Given the description of an element on the screen output the (x, y) to click on. 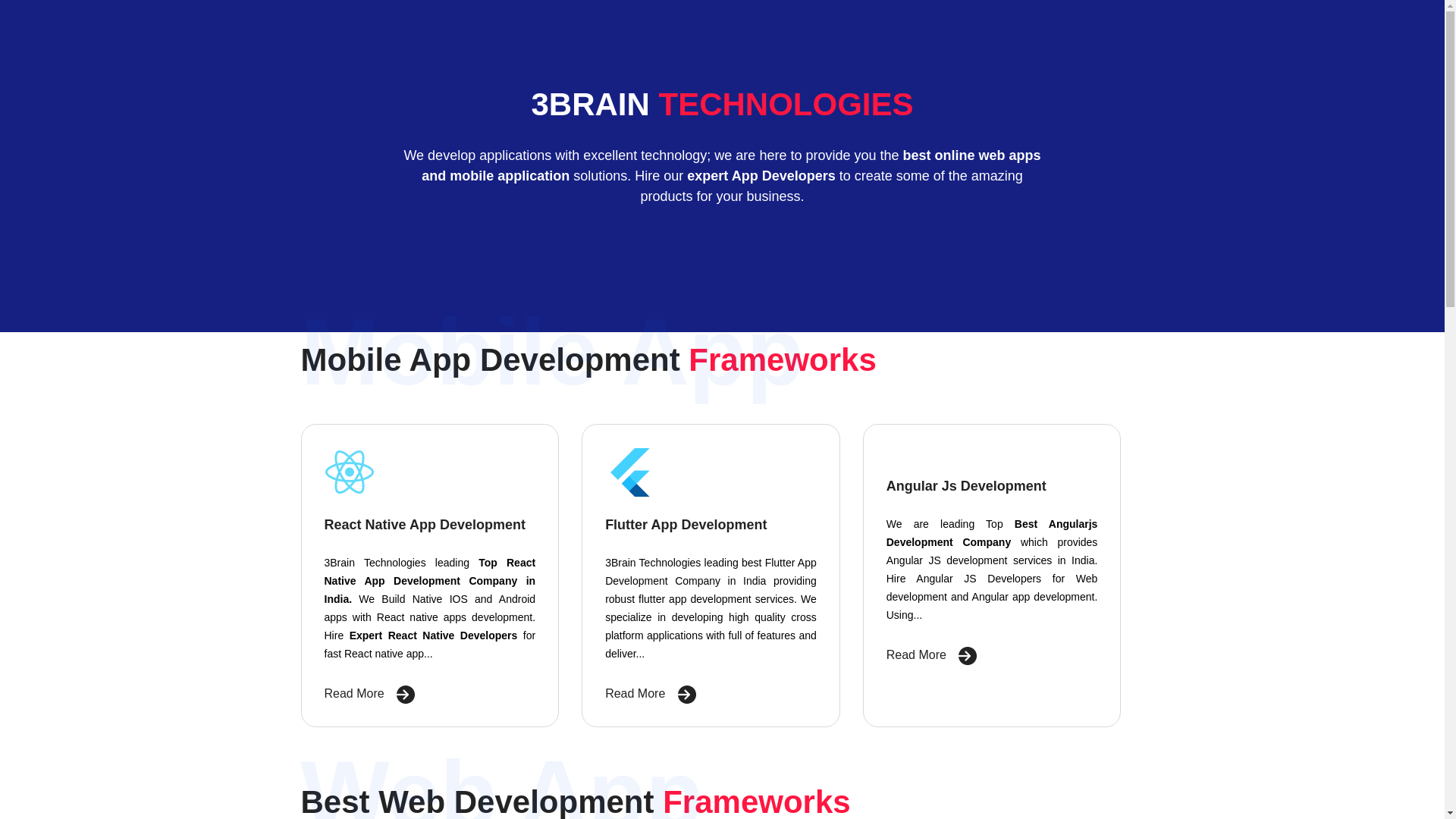
Best Angularjs Development Company Element type: text (992, 532)
estimate-btn Element type: hover (683, 694)
estimate-btn Element type: hover (964, 655)
Read More Element type: text (931, 654)
estimate-btn Element type: hover (402, 694)
Read More Element type: text (369, 693)
Expert React Native Developers Element type: text (433, 635)
Read More Element type: text (650, 693)
best online web apps and mobile application Element type: text (730, 165)
Top React Native App Development Company in India Element type: text (430, 580)
